Given the description of an element on the screen output the (x, y) to click on. 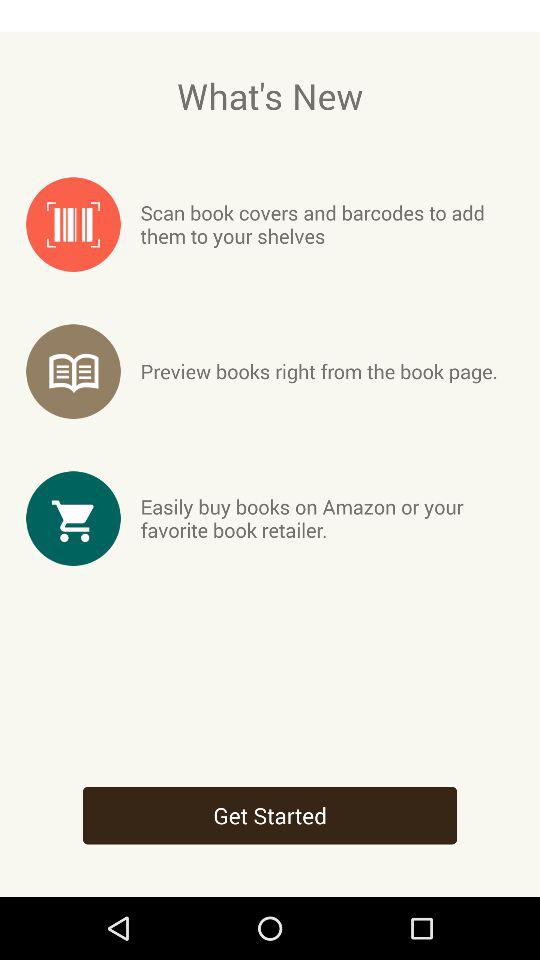
open the preview books right icon (318, 371)
